Given the description of an element on the screen output the (x, y) to click on. 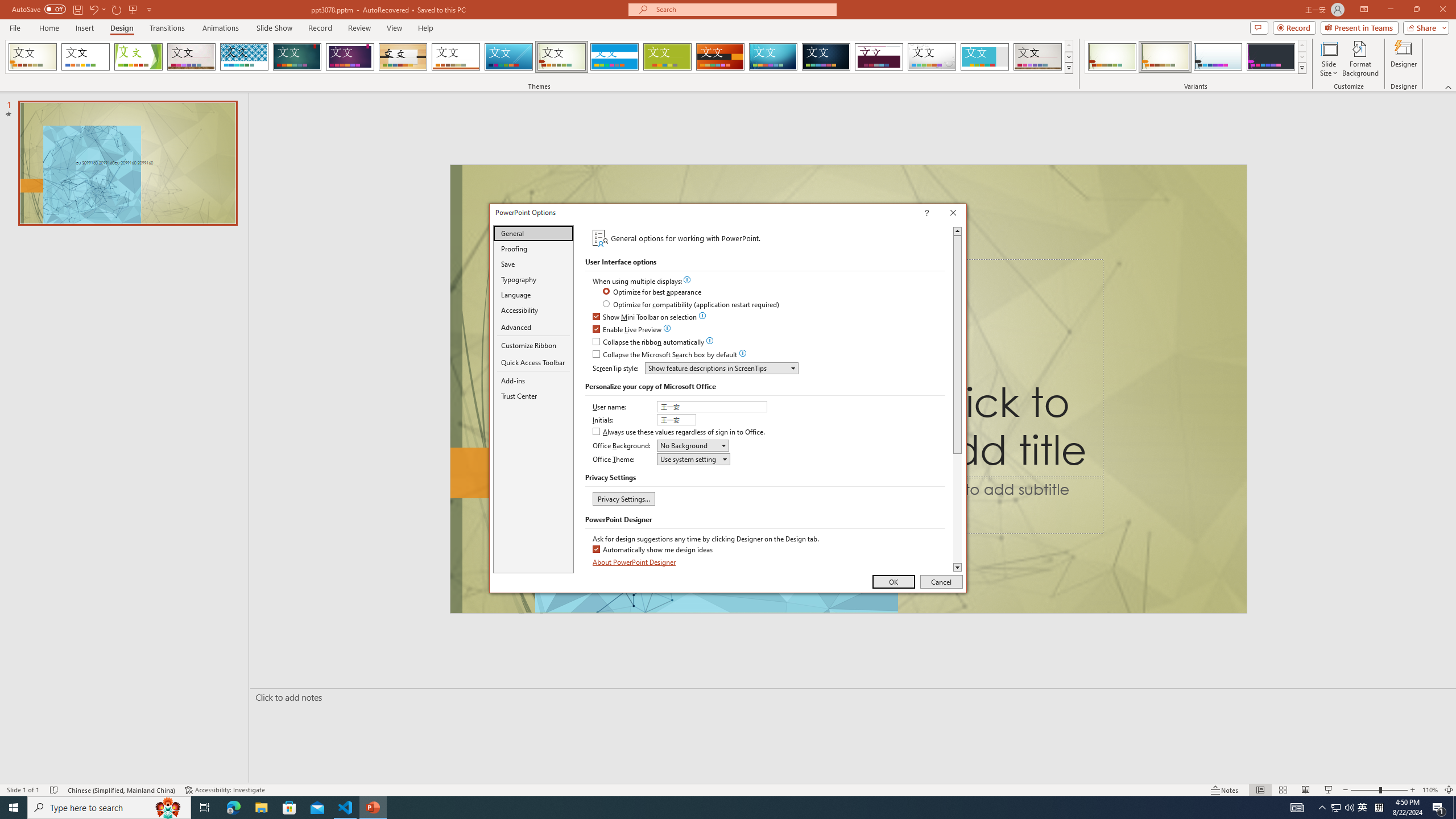
Basis Loading Preview... (667, 56)
Q2790: 100% (1349, 807)
Optimize for compatibility (application restart required) (691, 304)
File Explorer (261, 807)
Action Center, 1 new notification (1439, 807)
Office Background (692, 445)
Collapse the ribbon automatically (649, 342)
